Given the description of an element on the screen output the (x, y) to click on. 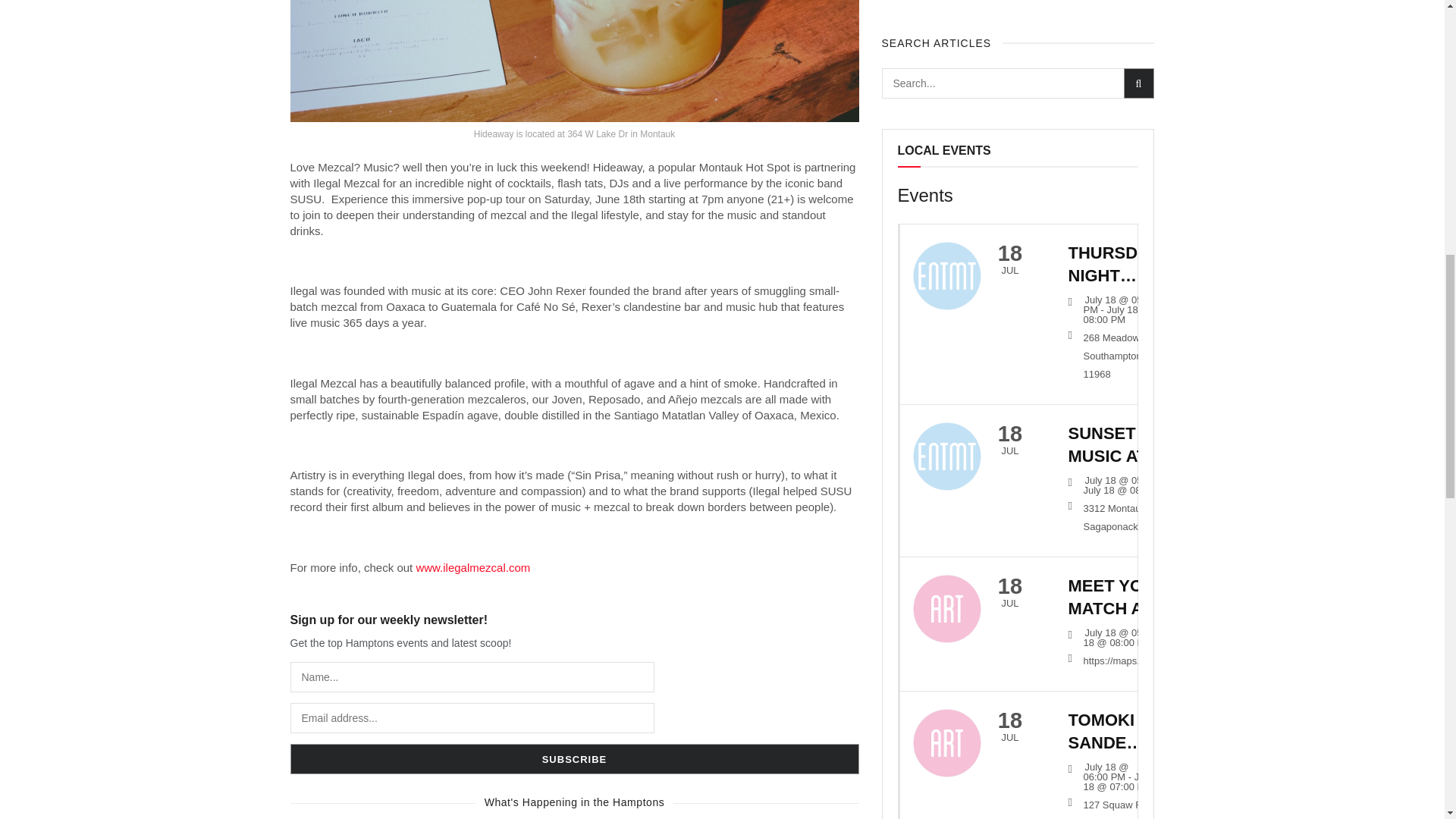
SUBSCRIBE (574, 758)
